Given the description of an element on the screen output the (x, y) to click on. 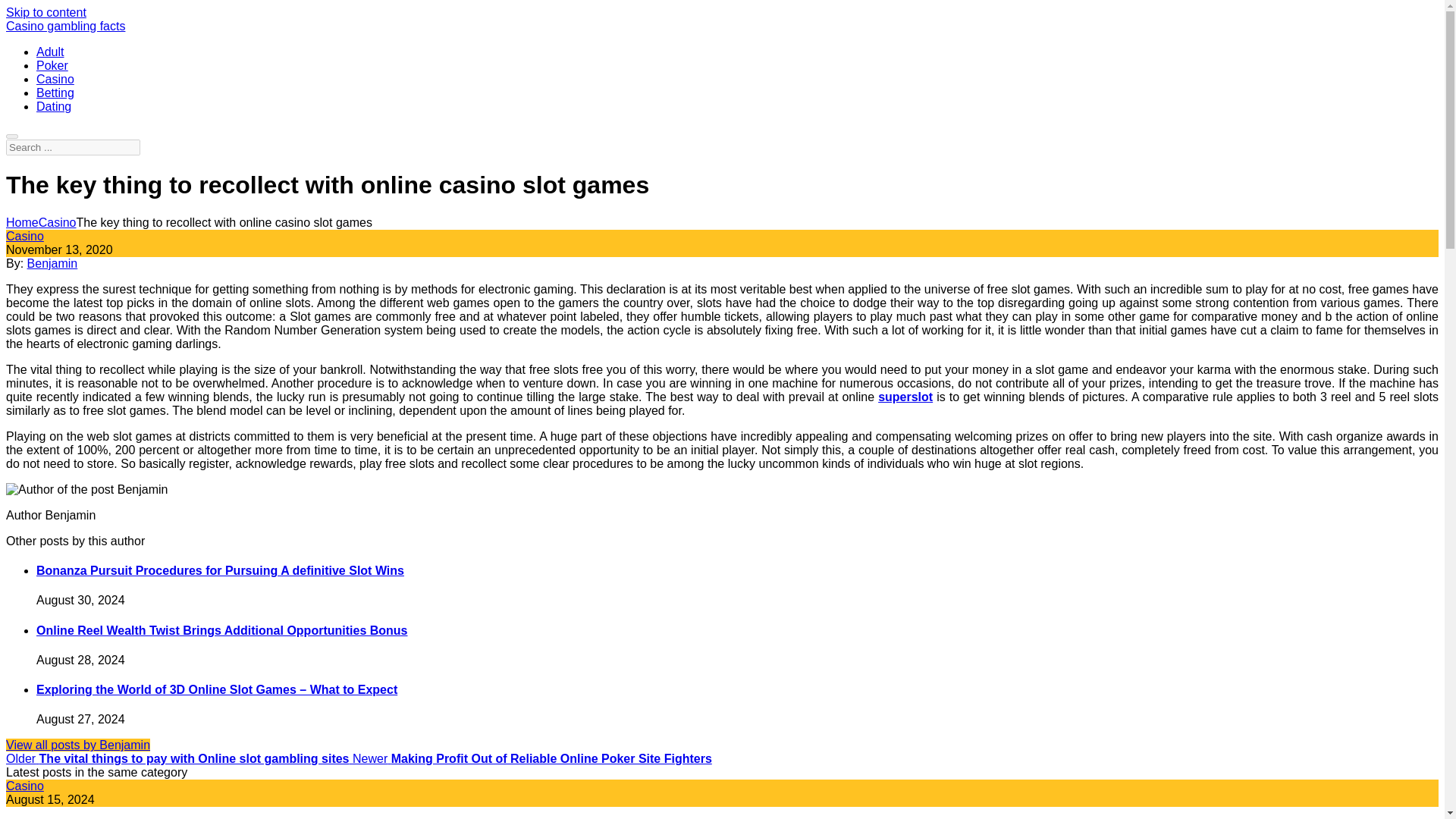
Casino (55, 78)
Benjamin (52, 263)
Casino (24, 236)
superslot (905, 396)
Casino (58, 222)
Poker (52, 65)
Home (22, 222)
Skip to content (45, 11)
